Given the description of an element on the screen output the (x, y) to click on. 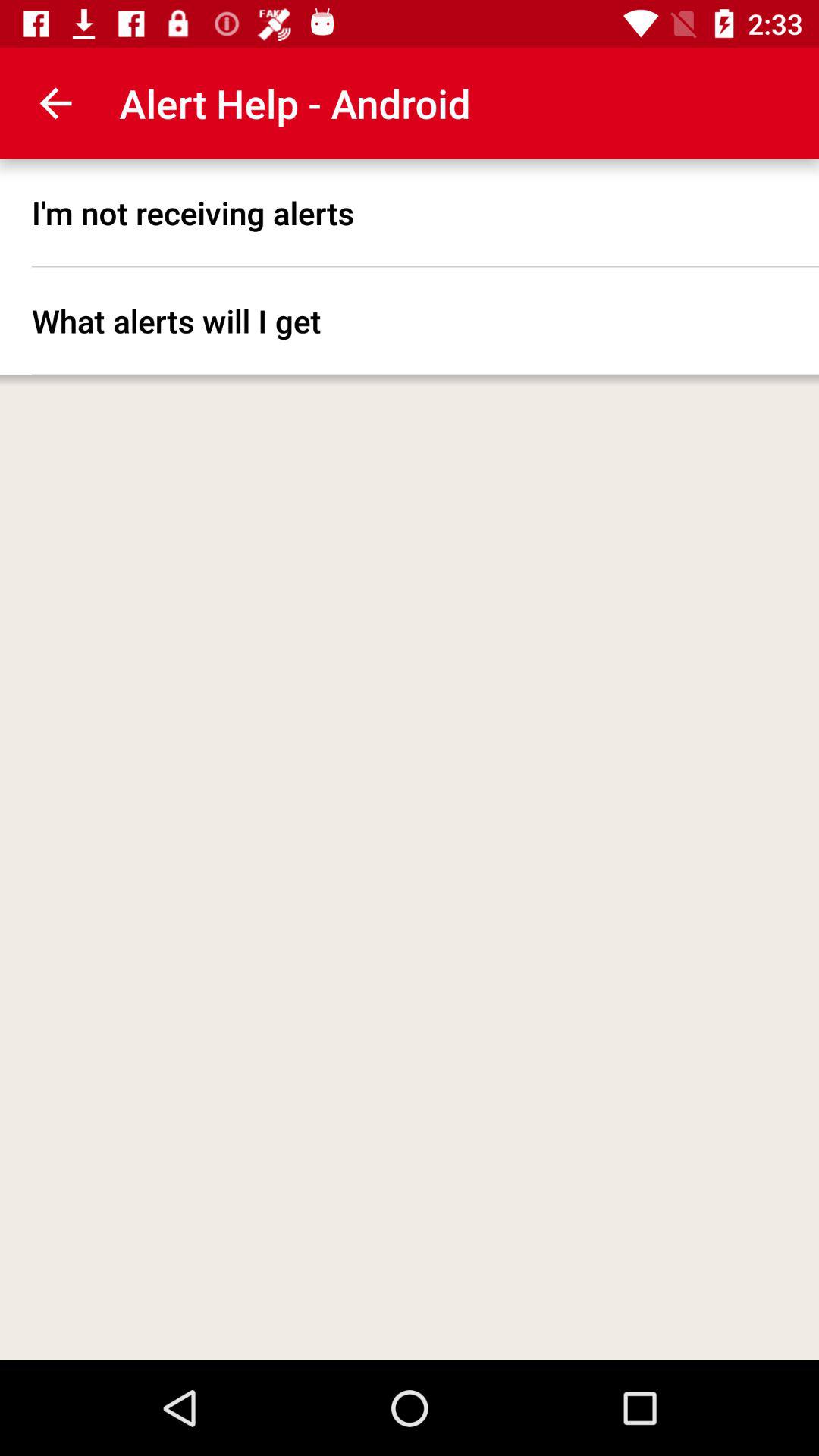
click app to the left of the alert help - android item (55, 103)
